Given the description of an element on the screen output the (x, y) to click on. 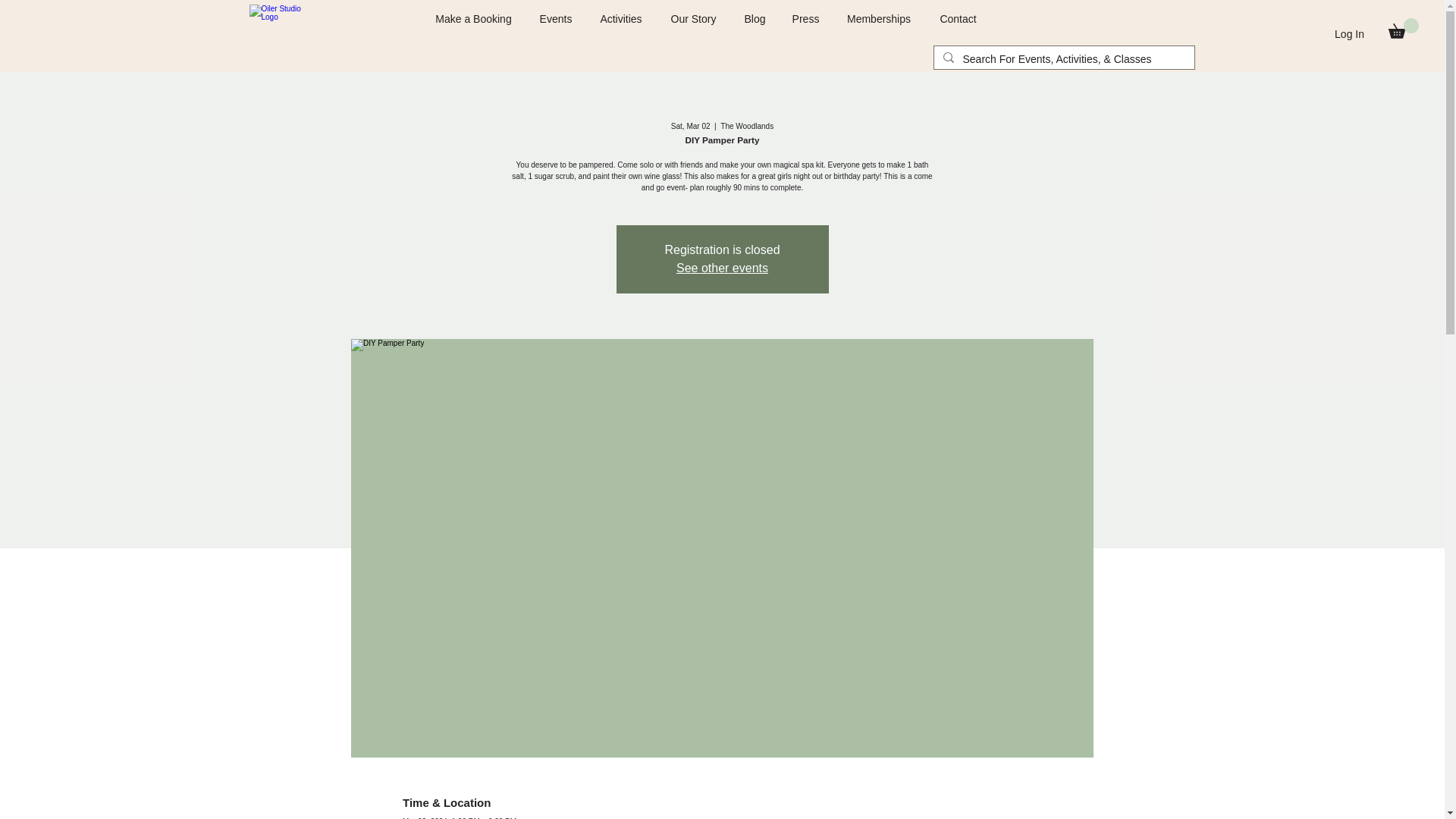
Memberships (879, 18)
Press (805, 18)
Make a Booking (473, 18)
Blog (754, 18)
Events (555, 18)
Contact (957, 18)
Activities (620, 18)
Log In (1348, 34)
See other events (722, 267)
Our Story (693, 18)
